Given the description of an element on the screen output the (x, y) to click on. 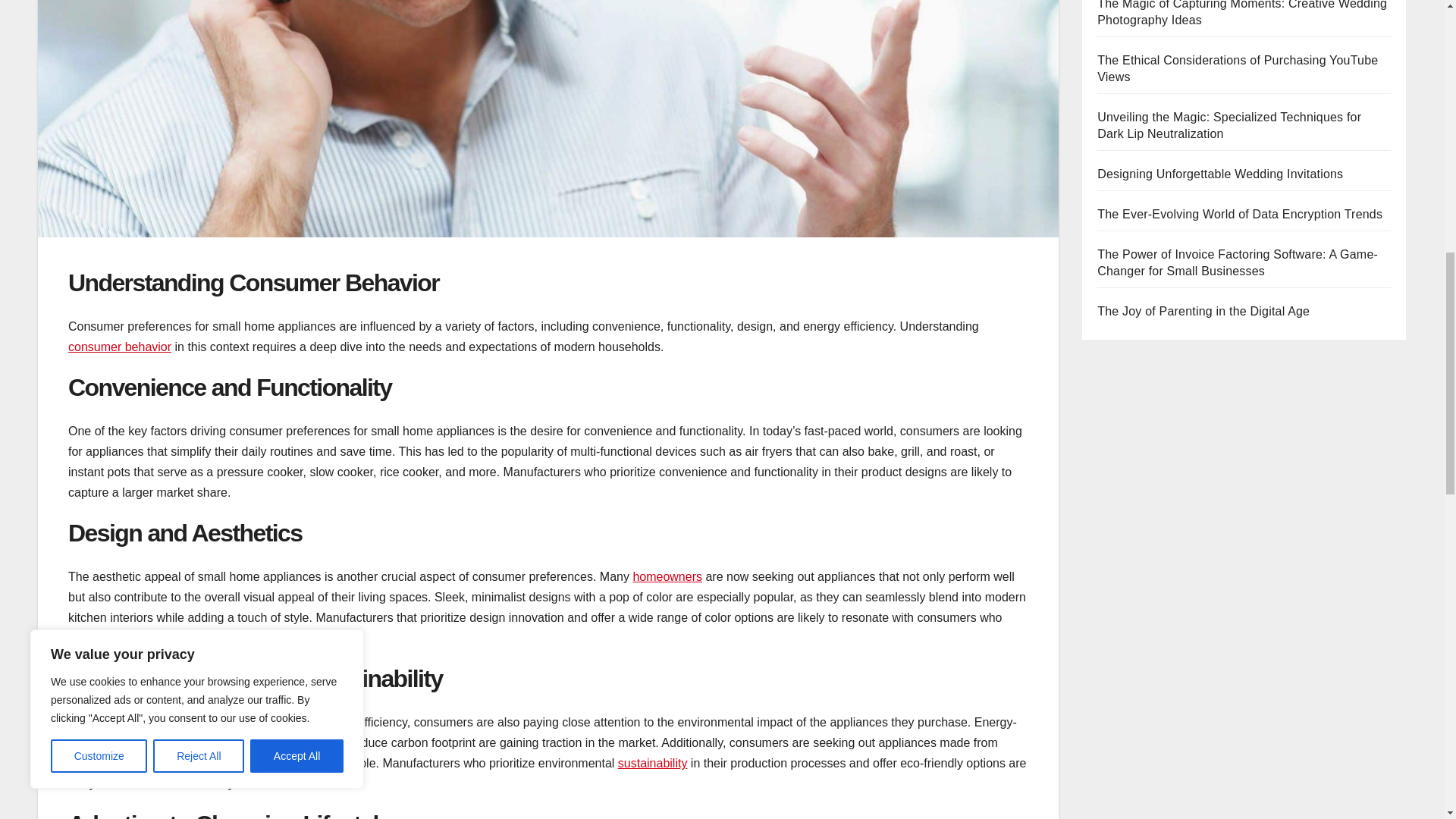
homeowners (666, 576)
consumer behavior (119, 346)
sustainability (652, 762)
